Given the description of an element on the screen output the (x, y) to click on. 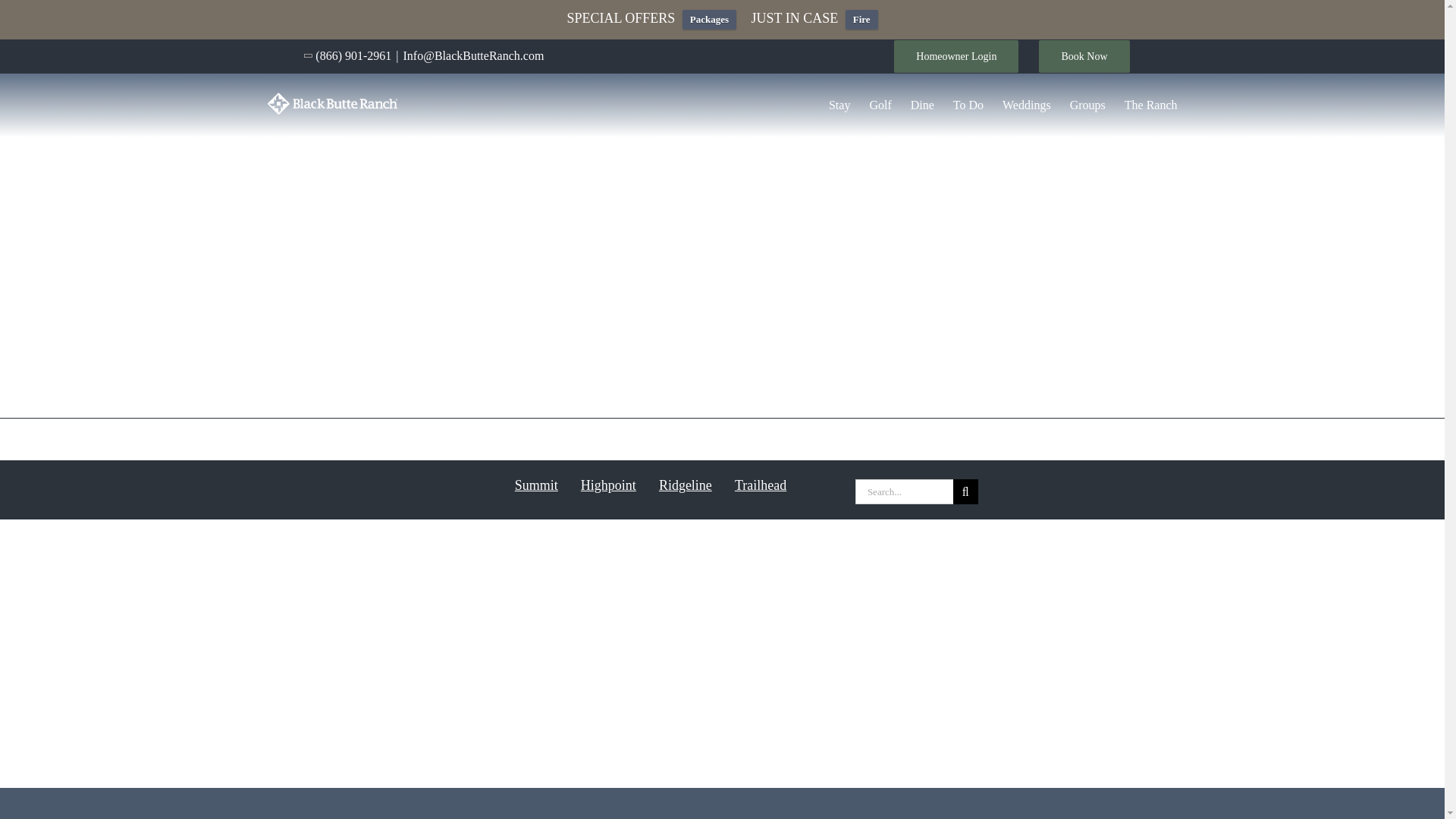
Homeowner Login (955, 55)
Packages (709, 19)
Book Now (1083, 55)
Book Now (1083, 55)
Fire (861, 19)
Homeowner Login (955, 55)
